Given the description of an element on the screen output the (x, y) to click on. 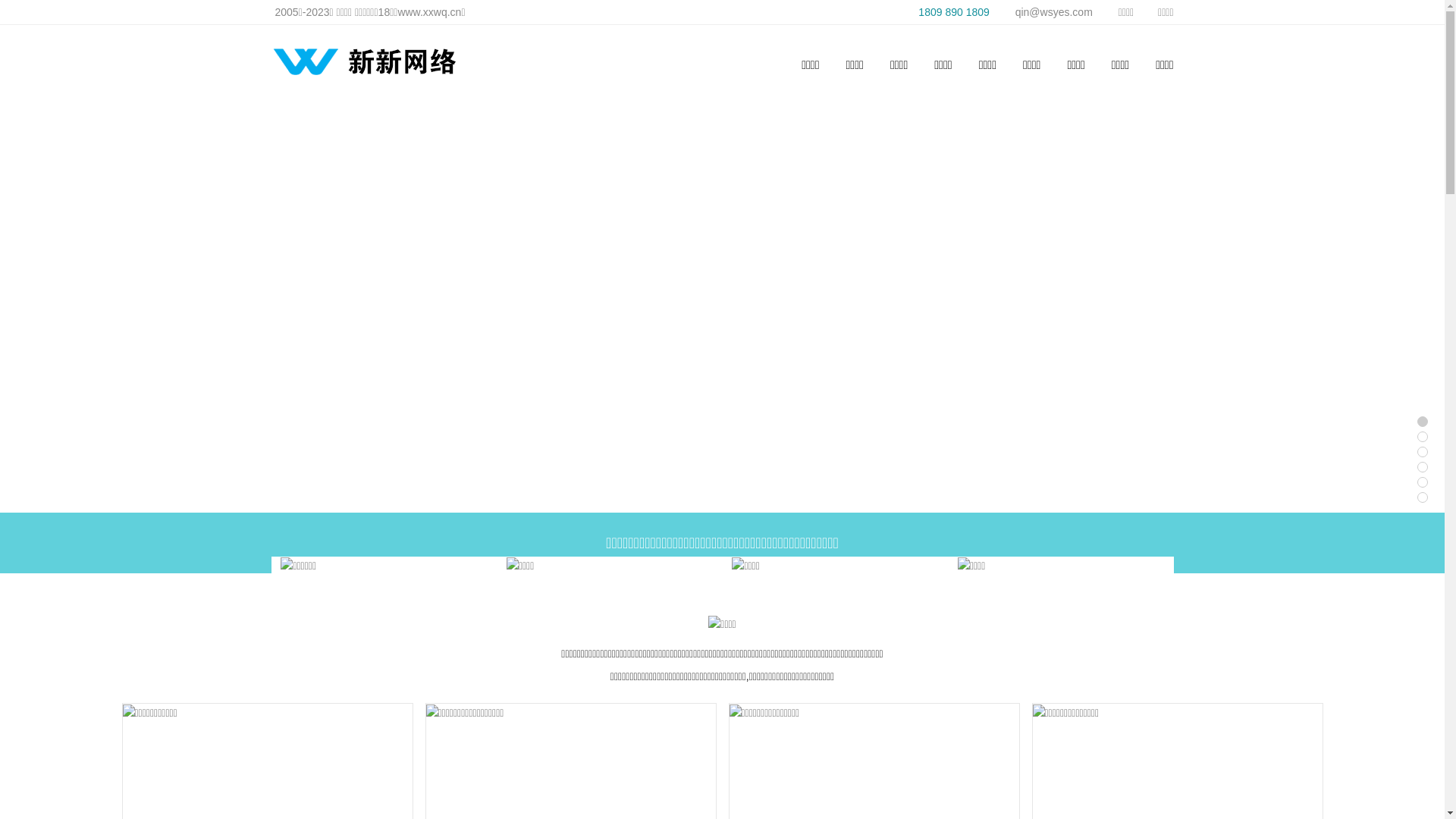
qin@wsyes.com Element type: text (1045, 12)
